Given the description of an element on the screen output the (x, y) to click on. 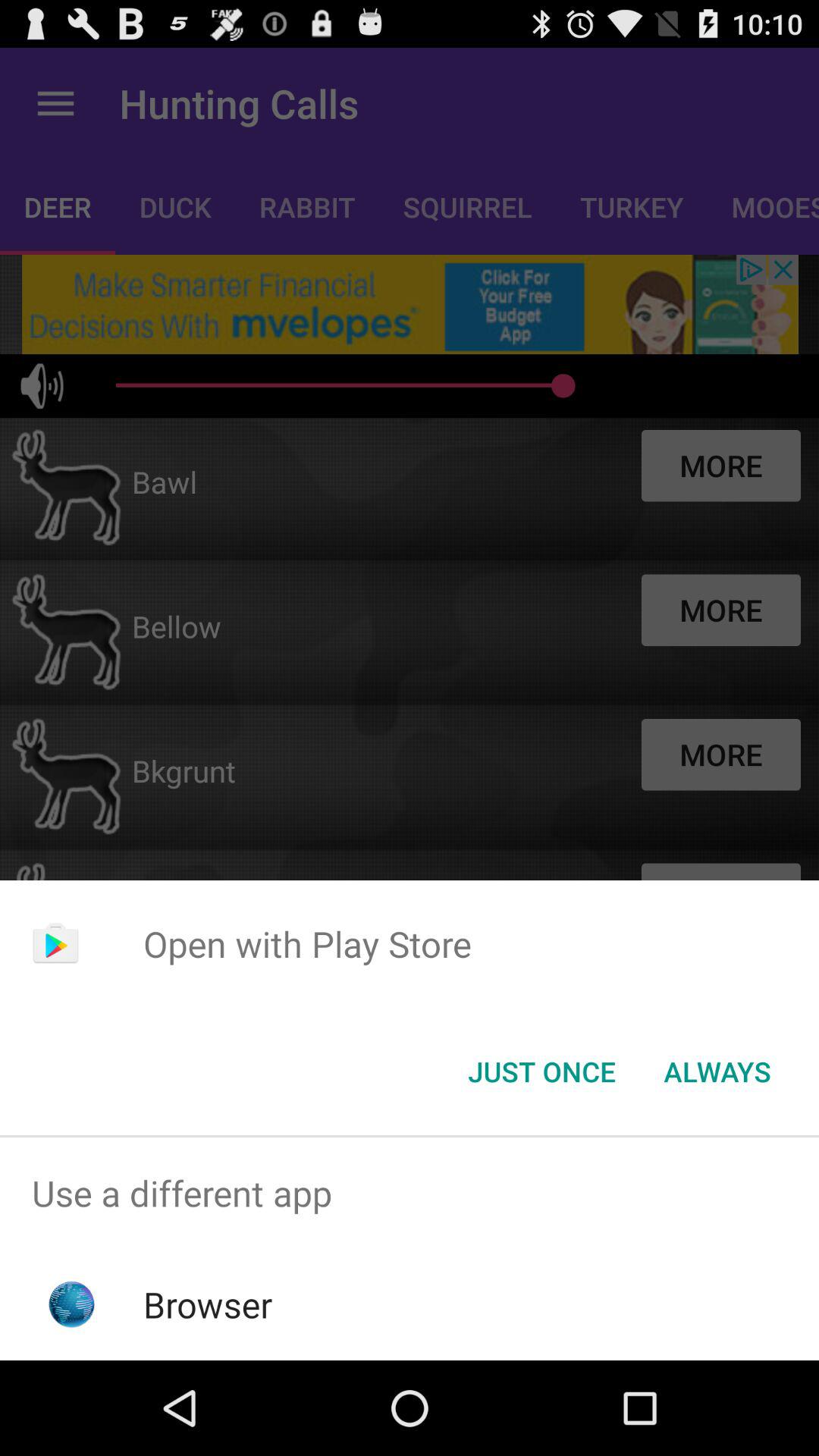
press button next to the always icon (541, 1071)
